Given the description of an element on the screen output the (x, y) to click on. 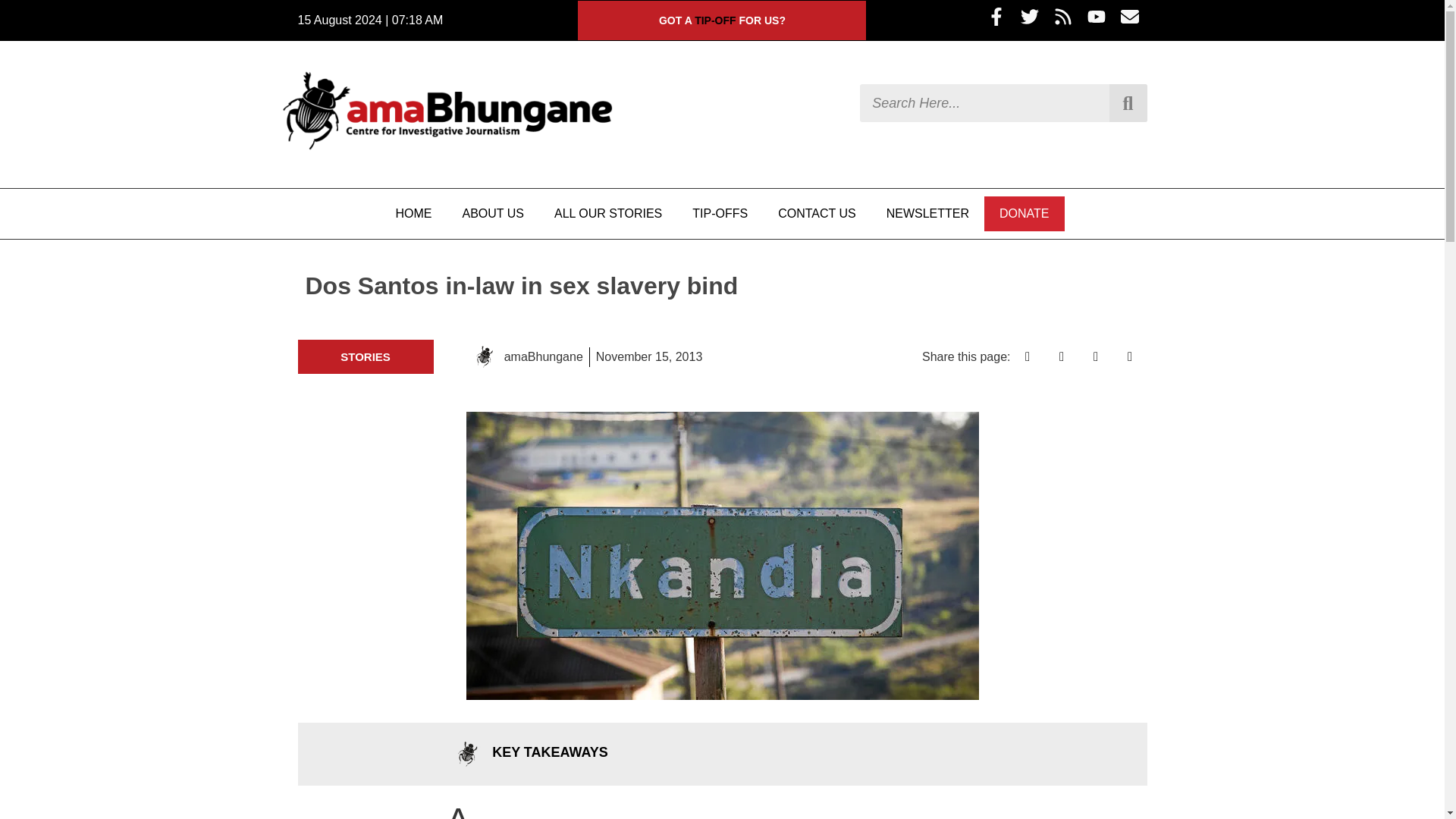
ABOUT US (492, 213)
GOT A TIP-OFF FOR US? (722, 20)
ALL OUR STORIES (607, 213)
HOME (413, 213)
